Given the description of an element on the screen output the (x, y) to click on. 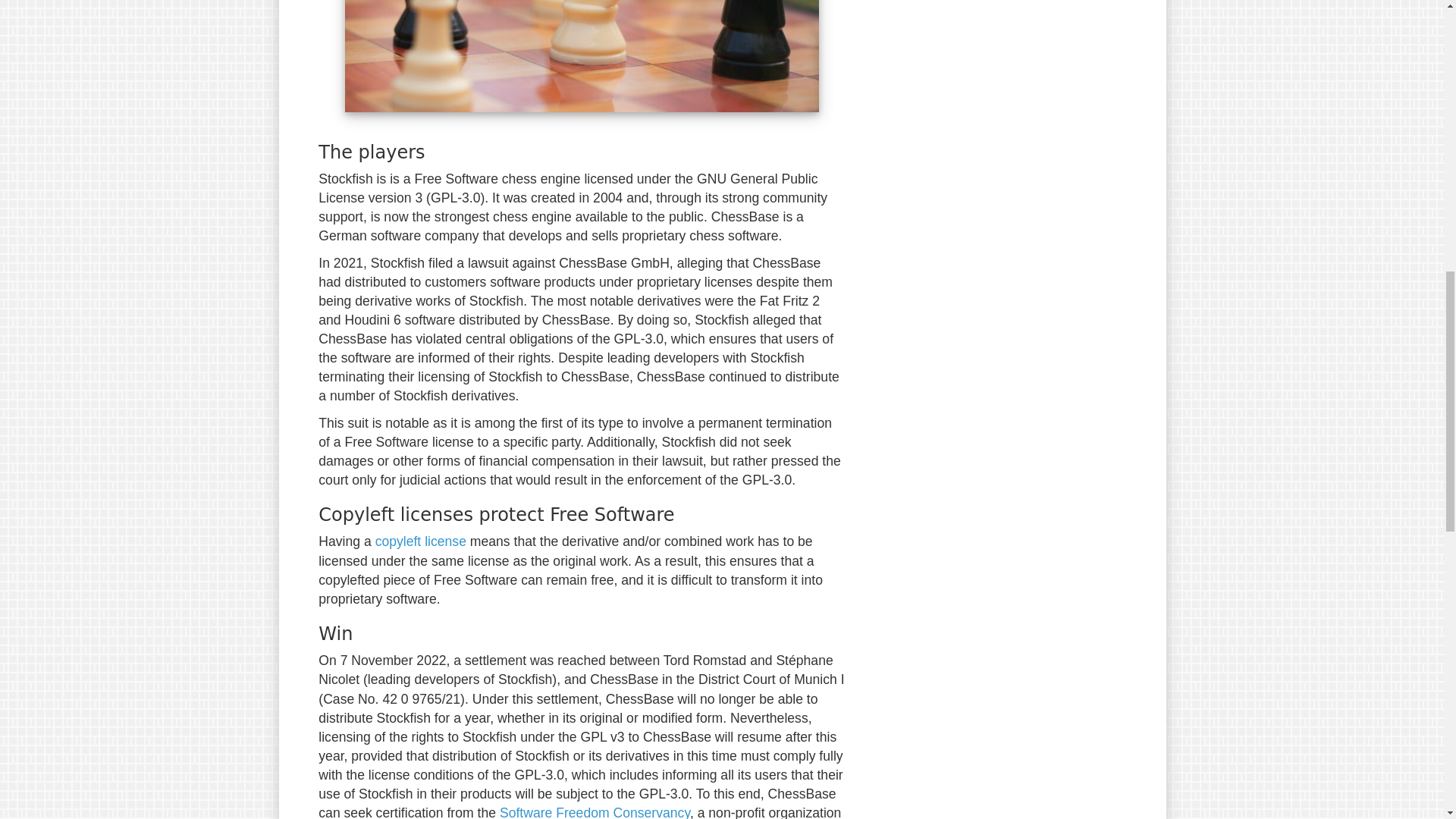
copyleft license (420, 540)
Software Freedom Conservancy (594, 812)
